Given the description of an element on the screen output the (x, y) to click on. 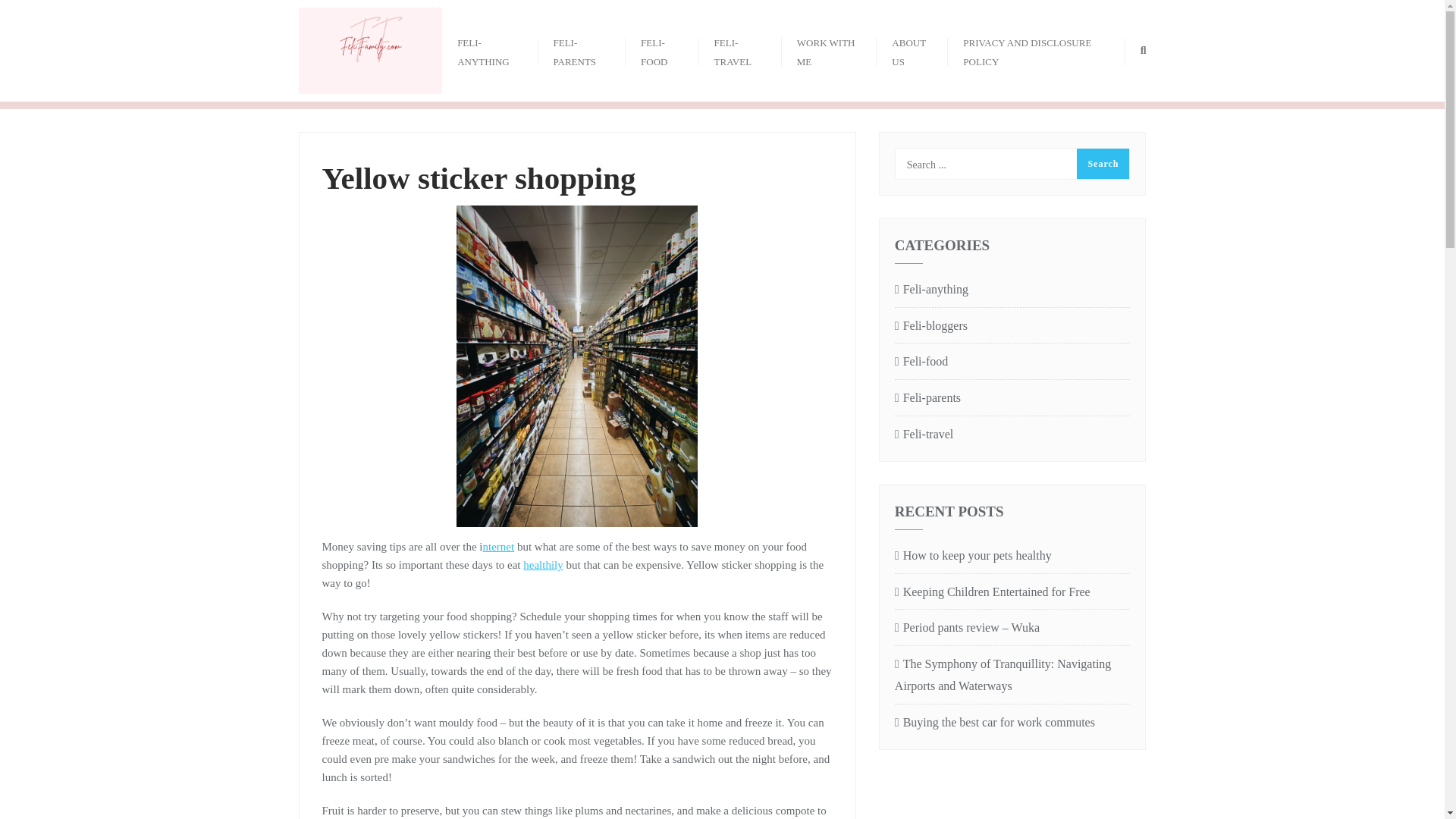
Search (1103, 163)
PRIVACY AND DISCLOSURE POLICY (1035, 50)
FELI-ANYTHING (489, 50)
Feli-anything (931, 290)
WORK WITH ME (829, 50)
FELI-PARENTS (582, 50)
Feli-food (921, 362)
FELI-TRAVEL (739, 50)
ABOUT US (911, 50)
Search (1103, 163)
